Given the description of an element on the screen output the (x, y) to click on. 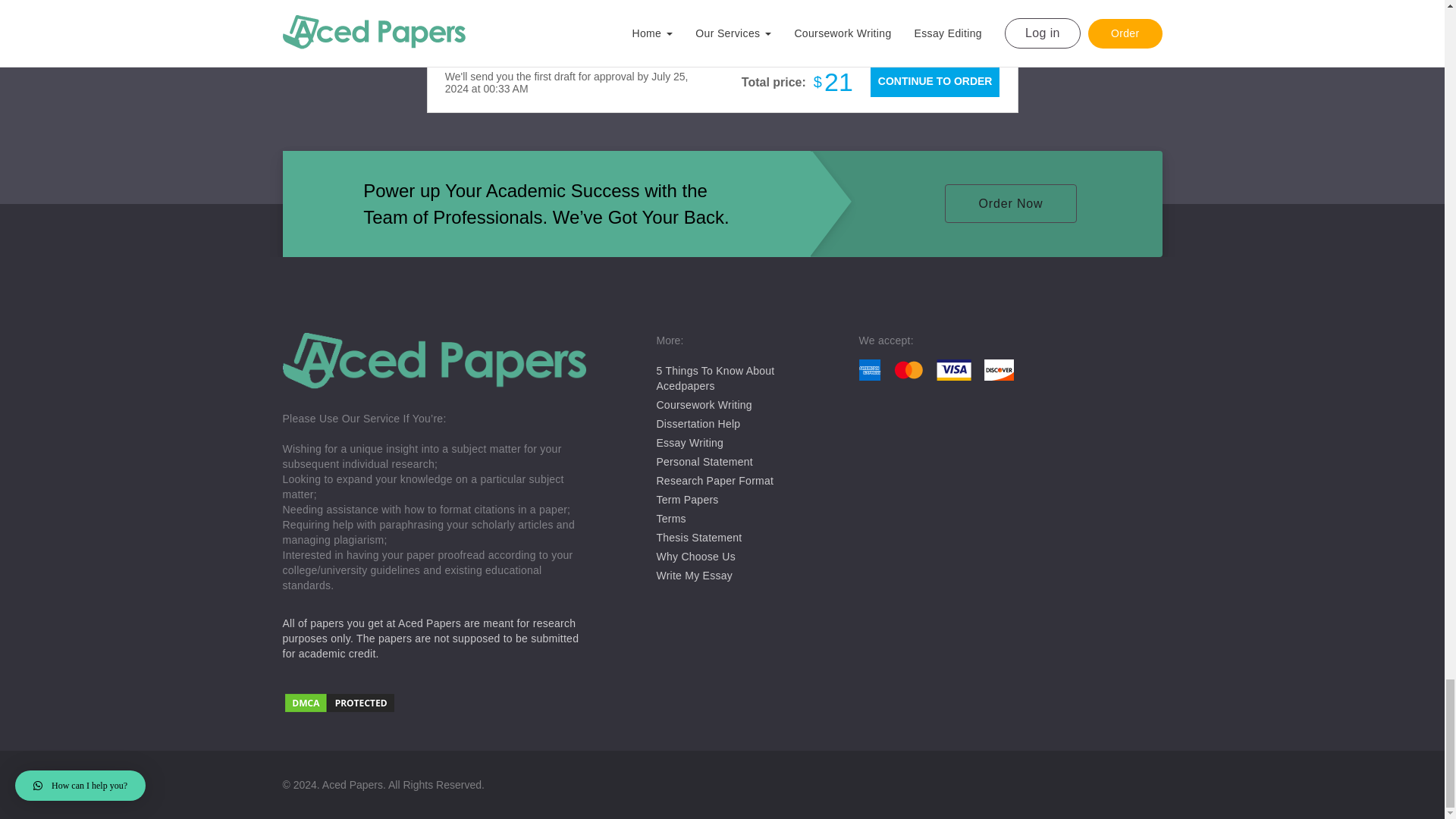
5 days (611, 4)
Continue to order (934, 81)
14 days (477, 4)
24 hours (811, 4)
3 days (677, 4)
7 days (544, 4)
2 days (744, 4)
